Given the description of an element on the screen output the (x, y) to click on. 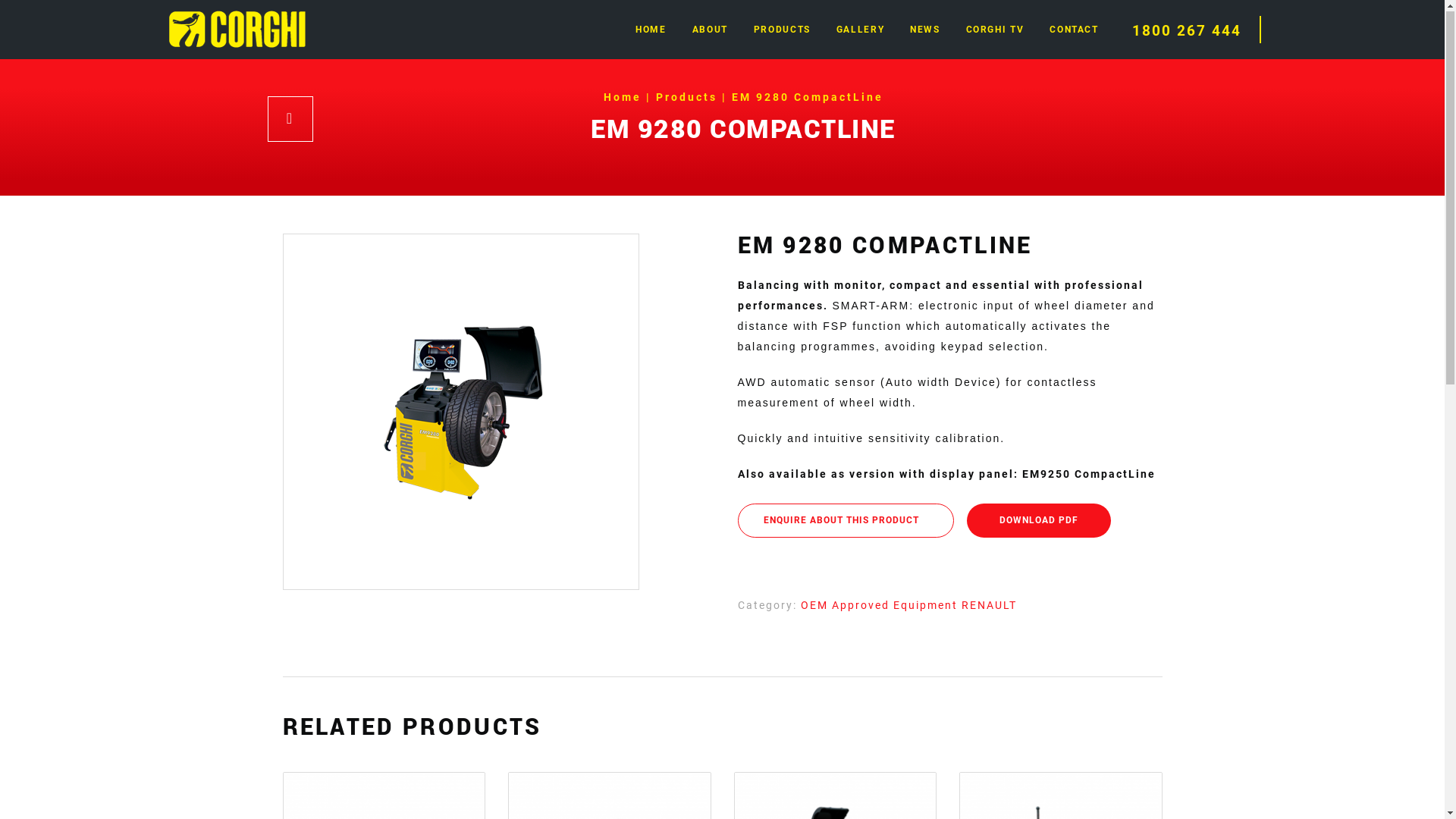
PRODUCTS Element type: text (782, 30)
Home Element type: text (622, 98)
NEWS Element type: text (924, 30)
GALLERY Element type: text (859, 30)
CONTACT Element type: text (1073, 30)
Corghi Australia Element type: hover (236, 29)
DOWNLOAD PDF Element type: text (1038, 522)
Search Element type: text (1118, 14)
CORGHI TV Element type: text (995, 30)
RENAULT Element type: text (988, 606)
HOME Element type: text (650, 30)
ENQUIRE ABOUT THIS PRODUCT Element type: text (845, 522)
Products Element type: text (685, 98)
ABOUT Element type: text (709, 30)
1800 267 444 Element type: text (1183, 30)
OEM Approved Equipment Element type: text (880, 606)
